Given the description of an element on the screen output the (x, y) to click on. 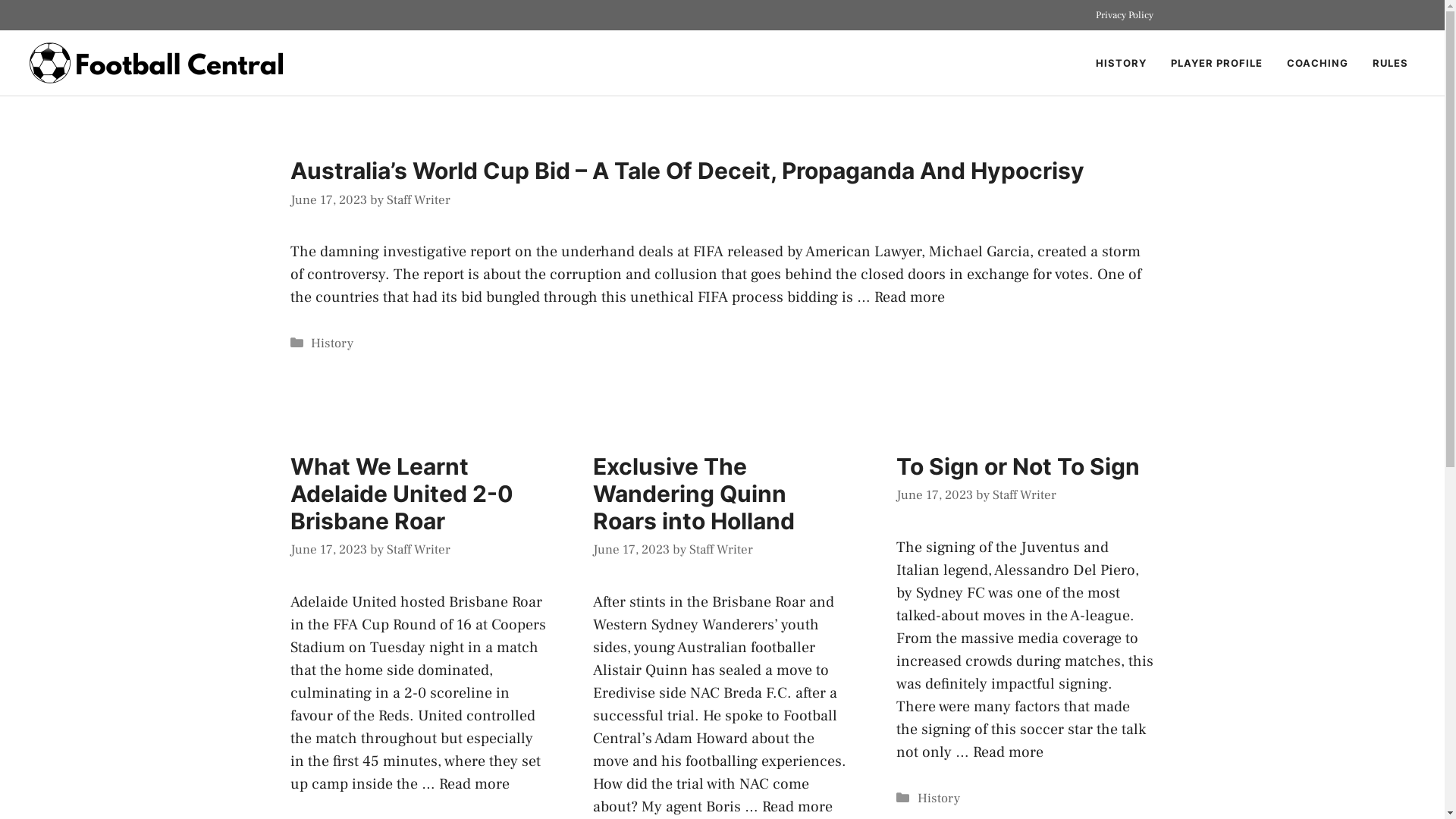
Read more Element type: text (473, 783)
Staff Writer Element type: text (1024, 494)
Exclusive The Wandering Quinn Roars into Holland Element type: text (693, 492)
Read more Element type: text (1007, 751)
To Sign or Not To Sign Element type: text (1017, 465)
Read more Element type: text (797, 805)
Staff Writer Element type: text (721, 549)
HISTORY Element type: text (1120, 62)
History Element type: text (331, 343)
Privacy Policy Element type: text (1123, 15)
Read more Element type: text (908, 297)
RULES Element type: text (1390, 62)
What We Learnt Adelaide United 2-0 Brisbane Roar Element type: text (400, 492)
Staff Writer Element type: text (418, 549)
Staff Writer Element type: text (418, 199)
History Element type: text (938, 798)
COACHING Element type: text (1317, 62)
PLAYER PROFILE Element type: text (1216, 62)
